Given the description of an element on the screen output the (x, y) to click on. 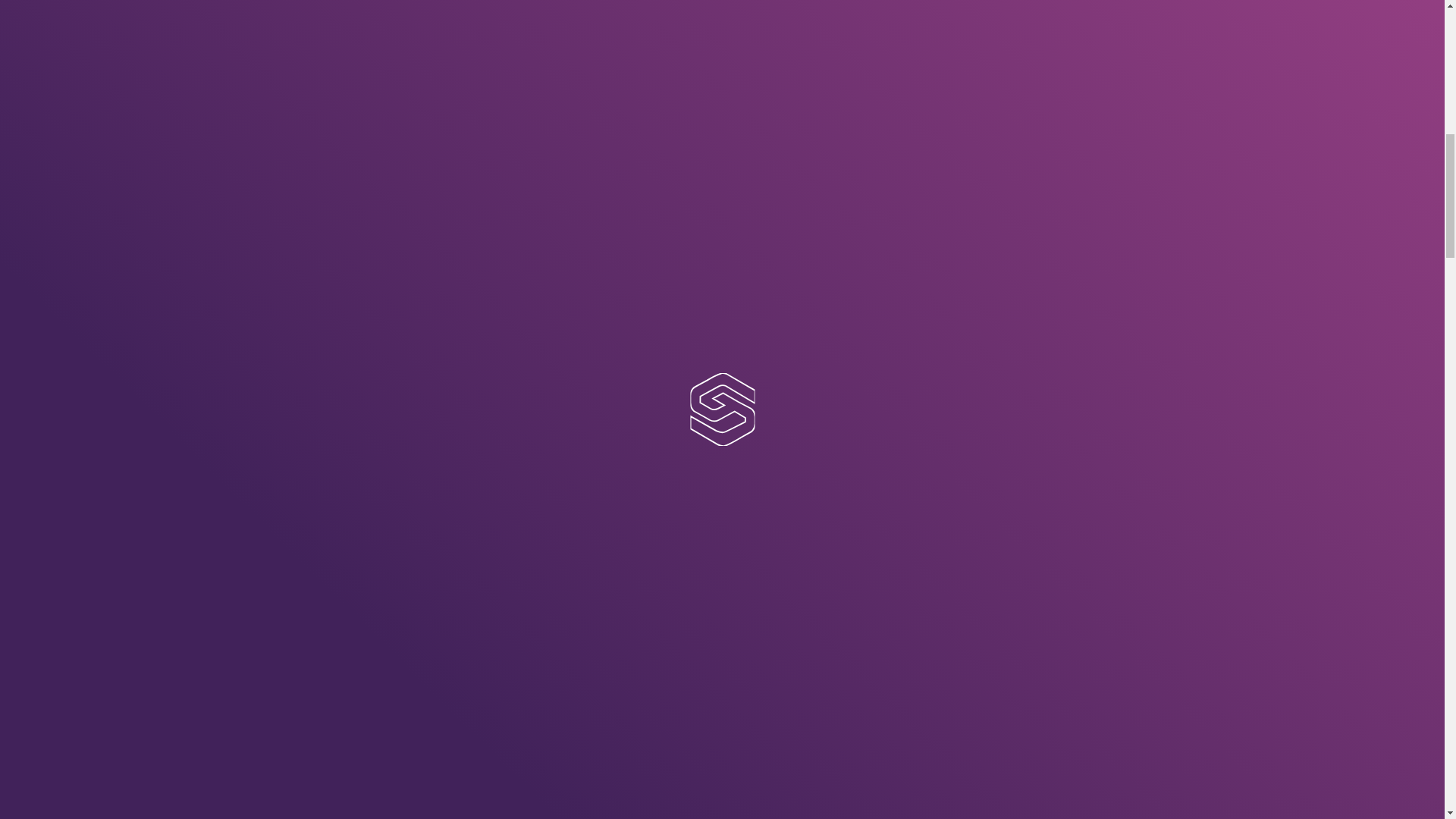
R.O.C.K (913, 384)
